Given the description of an element on the screen output the (x, y) to click on. 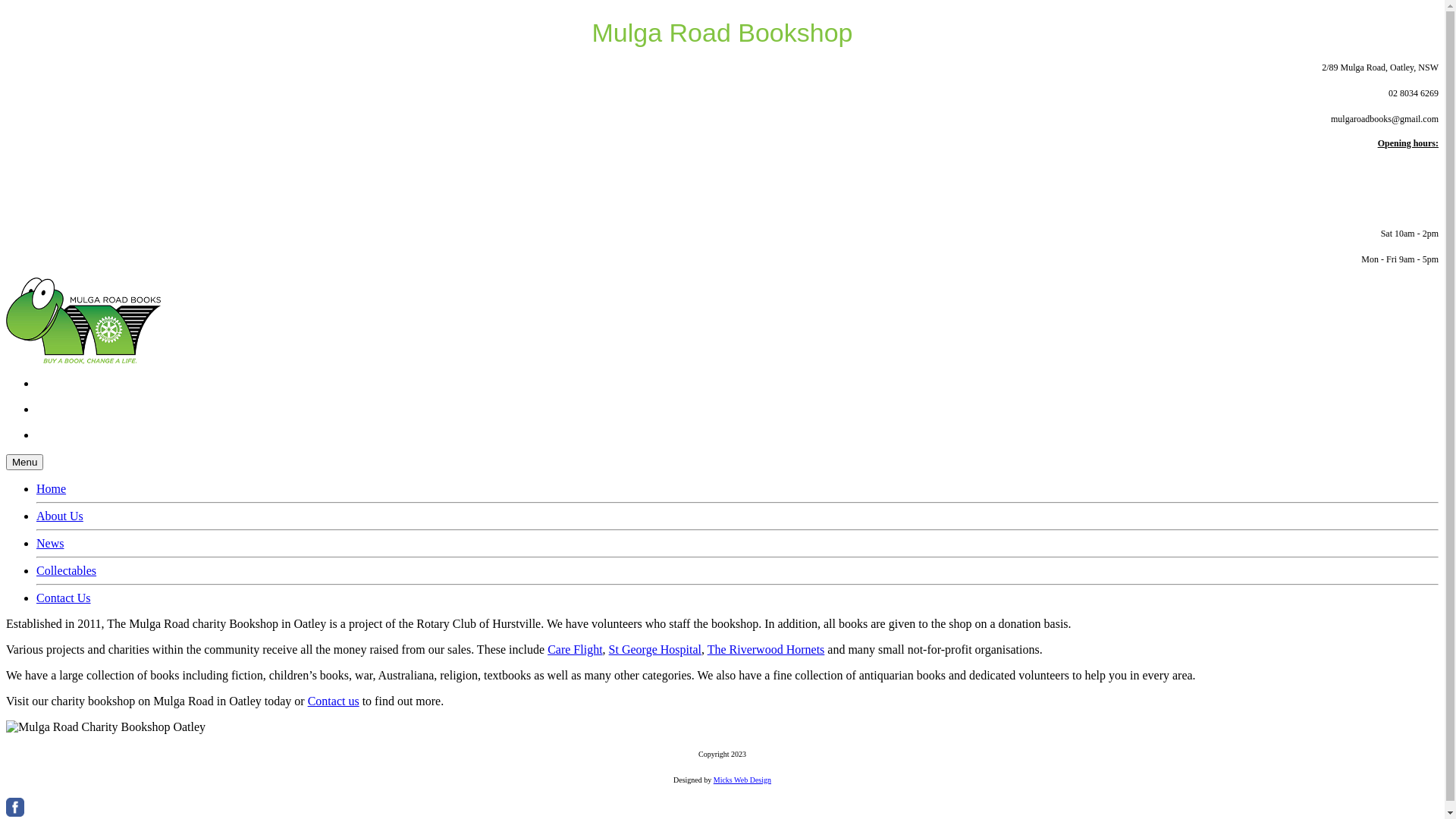
About Us Element type: text (59, 515)
Contact us Element type: text (333, 700)
Micks Web Design Element type: text (742, 777)
Care Flight Element type: text (574, 649)
Menu Element type: text (24, 462)
Home Element type: text (50, 488)
The Riverwood Hornets Element type: text (766, 649)
St George Hospital Element type: text (654, 649)
News Element type: text (49, 542)
Contact Us Element type: text (63, 597)
Collectables Element type: text (66, 570)
